Given the description of an element on the screen output the (x, y) to click on. 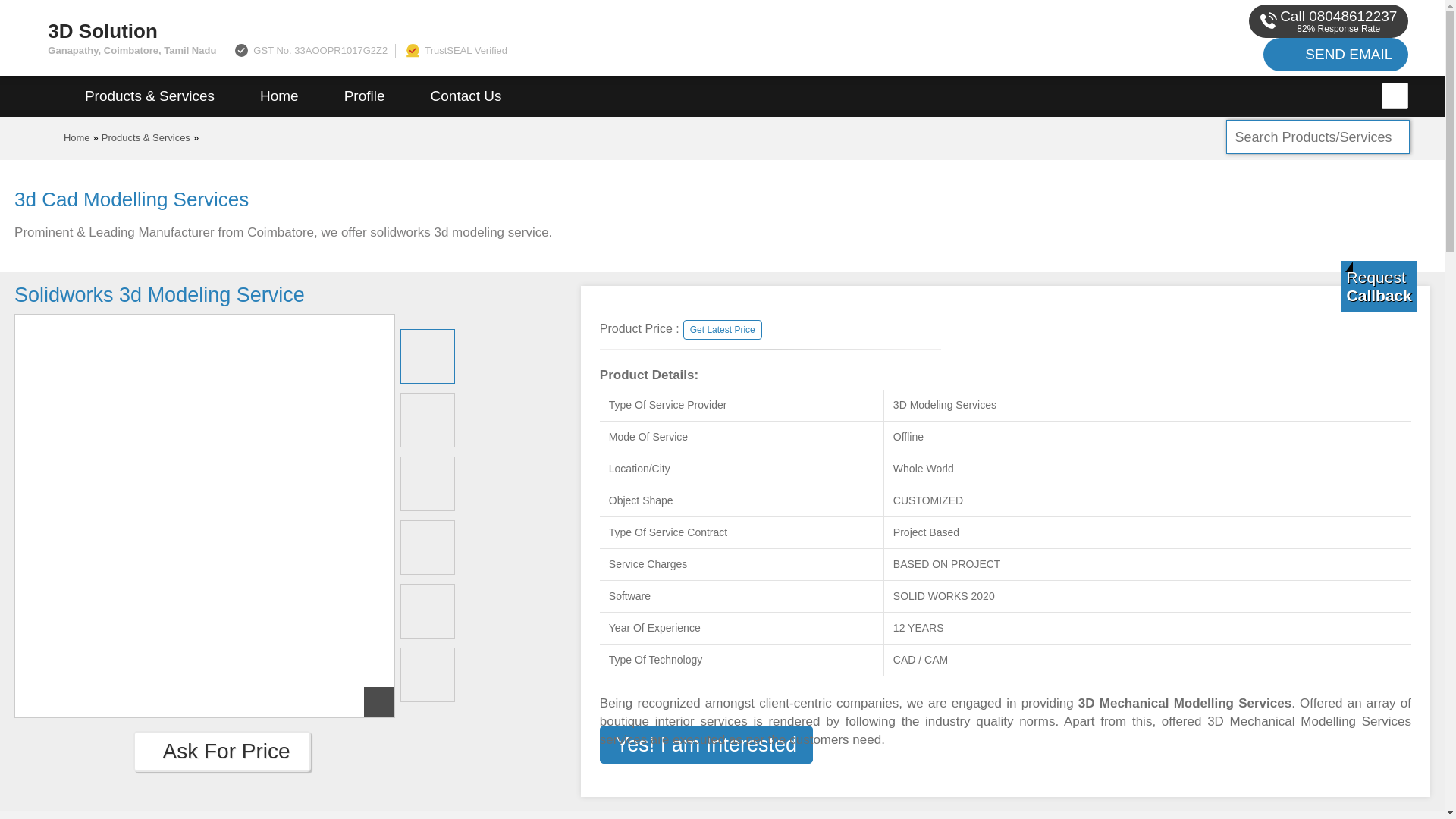
TrustSEAL Verified Element type: text (455, 49)
Profile Element type: text (364, 95)
Ask For Price Element type: text (208, 750)
  Element type: text (1394, 95)
3D Solution Element type: text (484, 30)
Get Latest Price Element type: text (722, 329)
Request
Callback Element type: text (1379, 286)
Yes! I am Interested Element type: text (705, 744)
Call 08048612237
82% Response Rate Element type: text (1328, 21)
Home Element type: text (279, 95)
Contact Us Element type: text (465, 95)
Products & Services Element type: text (149, 95)
Home Element type: text (76, 137)
Products & Services Element type: text (145, 137)
SEND EMAIL Element type: text (1335, 54)
